Given the description of an element on the screen output the (x, y) to click on. 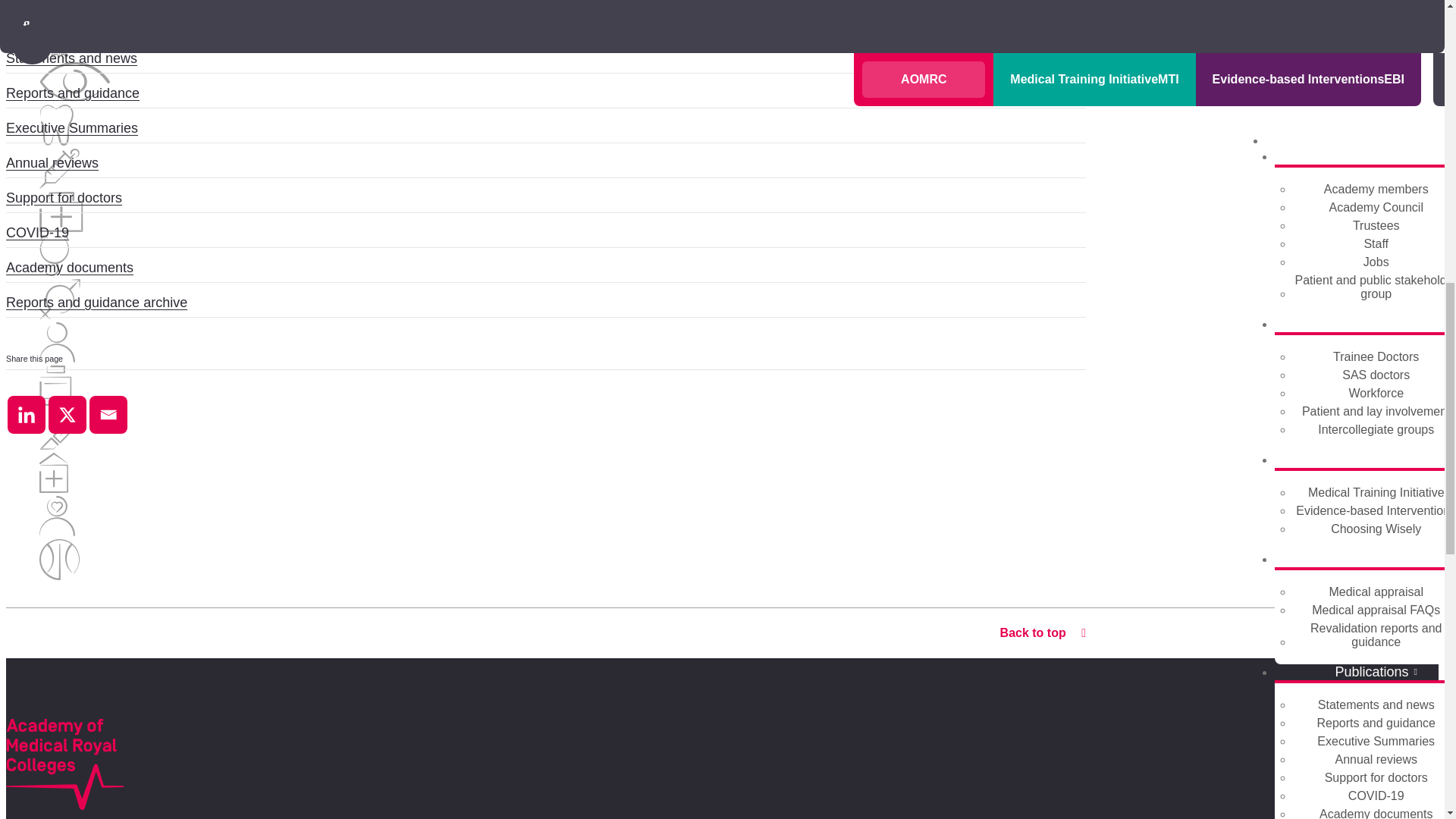
Email (108, 414)
X (66, 414)
Linkedin (26, 414)
